Given the description of an element on the screen output the (x, y) to click on. 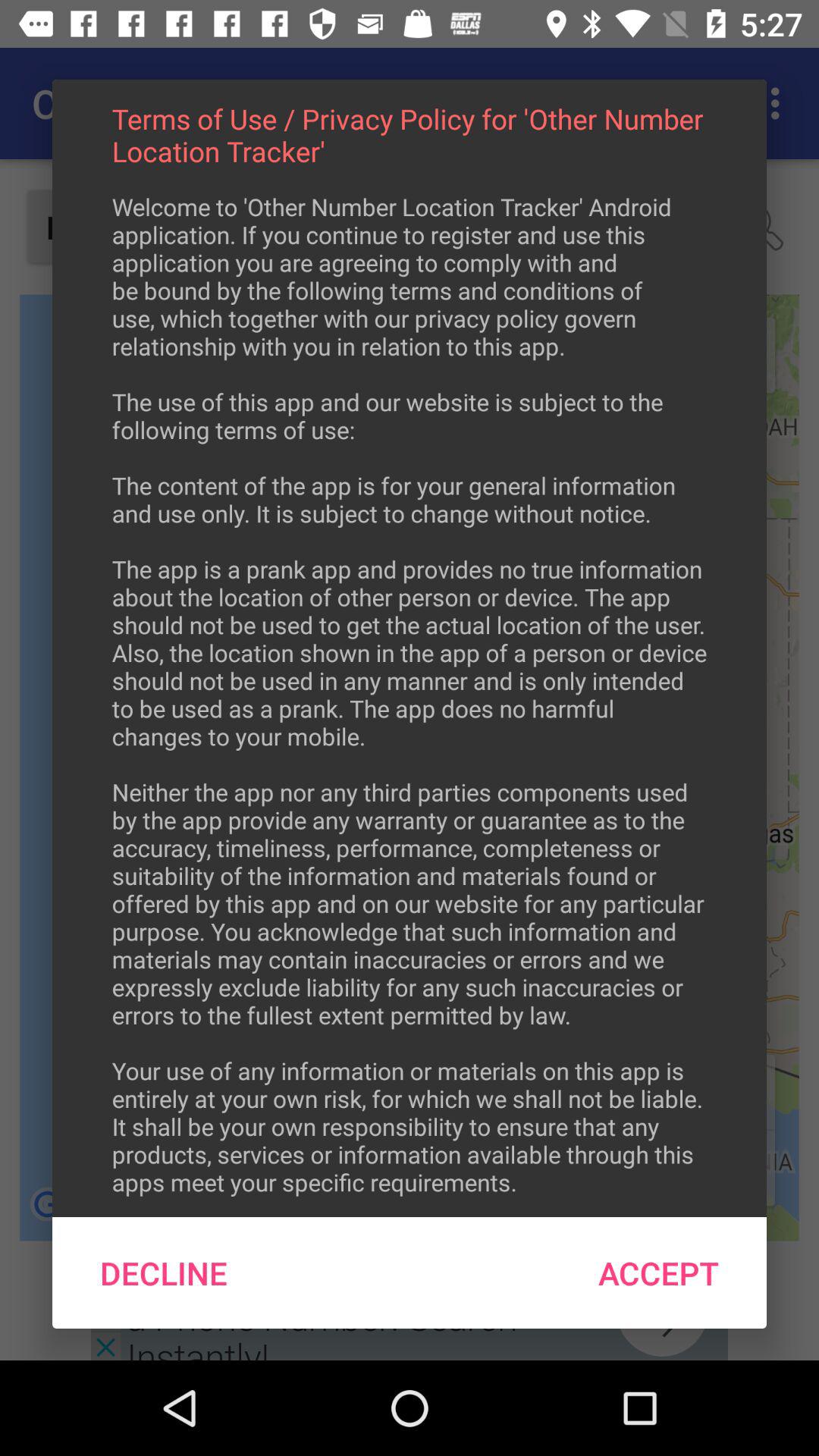
flip to the accept icon (658, 1272)
